Given the description of an element on the screen output the (x, y) to click on. 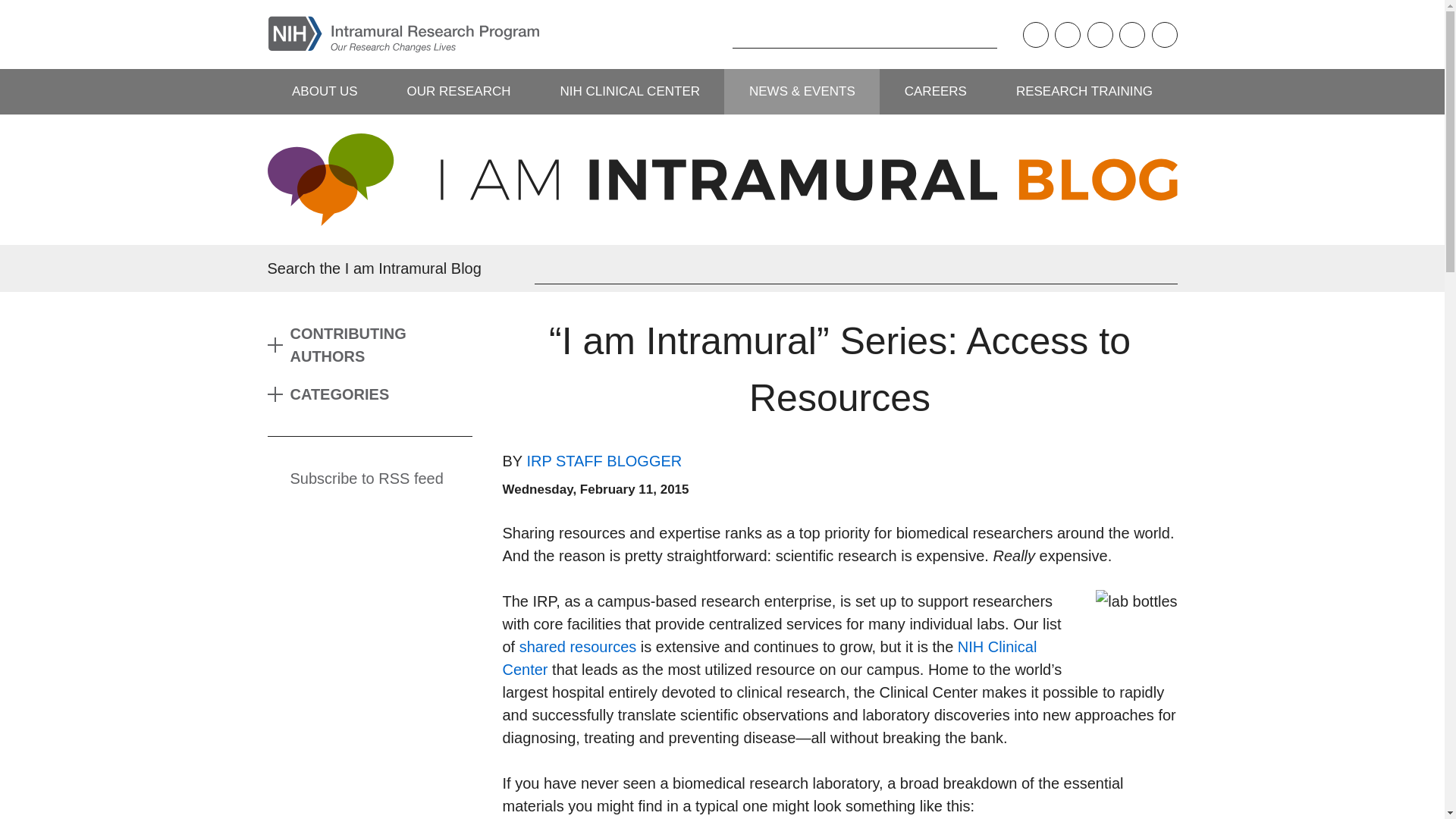
Podcast (1035, 34)
Skip to main content (11, 11)
ABOUT US (323, 91)
SEARCH (707, 34)
